Given the description of an element on the screen output the (x, y) to click on. 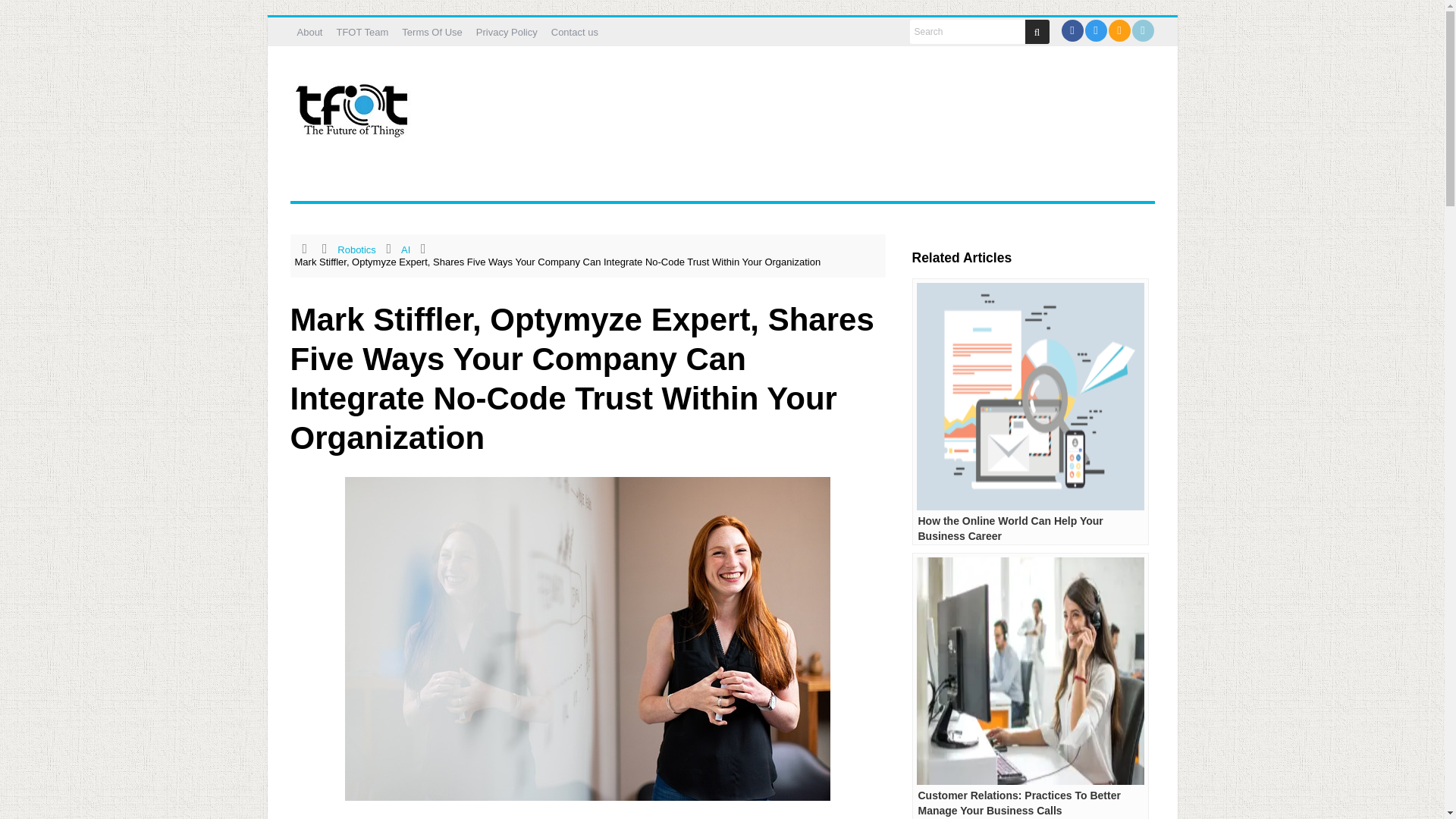
TFOT Team (361, 32)
Science (508, 182)
Privacy Policy (506, 32)
Communications (342, 182)
Facebook (1071, 30)
Contact us (574, 32)
Computers (436, 182)
Search (967, 31)
Privacy Policy (506, 32)
Contact us (574, 32)
